Given the description of an element on the screen output the (x, y) to click on. 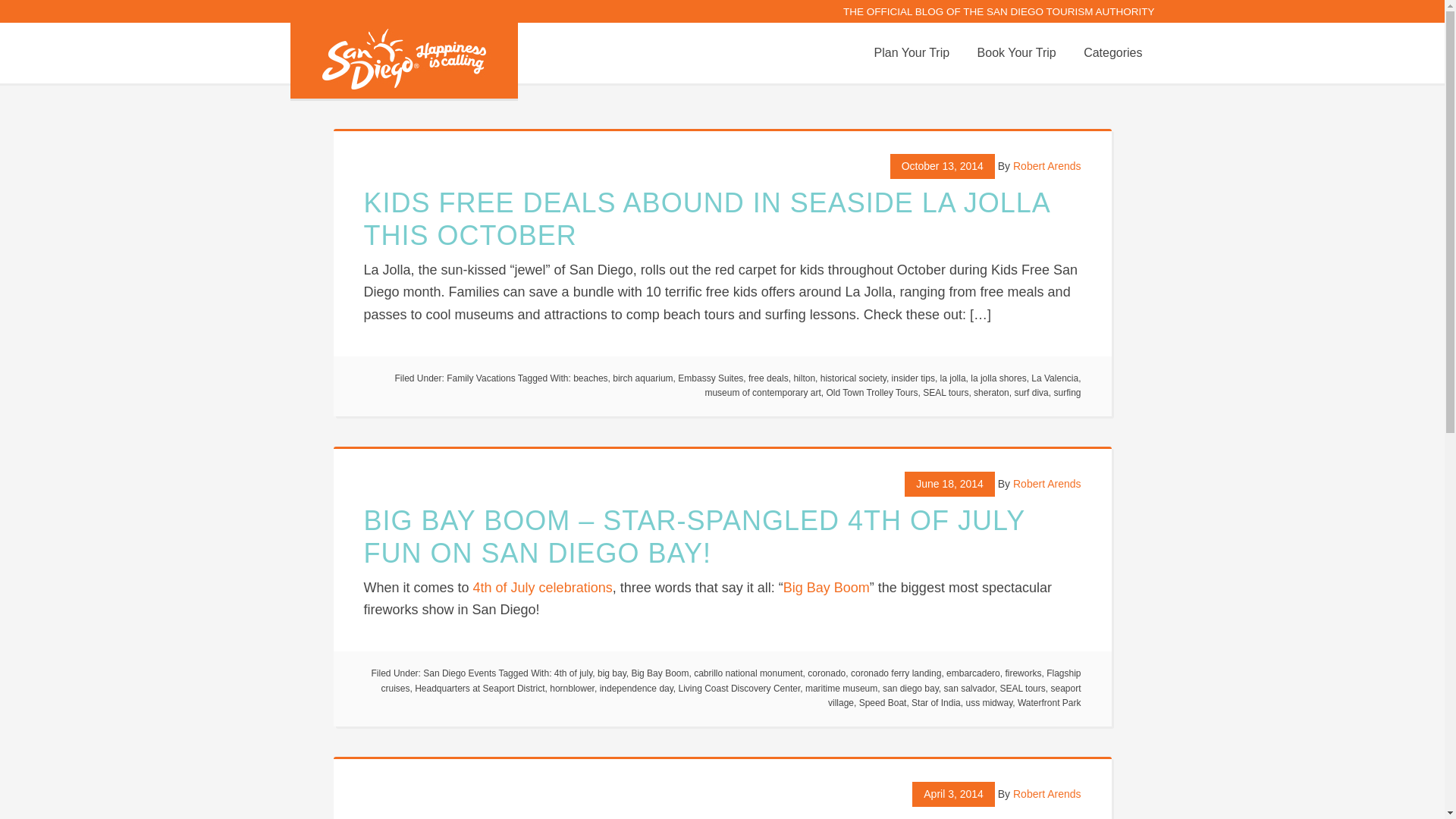
birch aquarium (642, 378)
Book Your Trip (1016, 52)
SEAL tours (945, 392)
Big Bay Boom (826, 587)
free deals (768, 378)
la jolla (953, 378)
4th of july (573, 673)
museum of contemporary art (762, 392)
Embassy Suites (710, 378)
big bay (611, 673)
Plan Your Trip (911, 52)
Family Vacations (480, 378)
4th of July Fireworks and Celebrations (542, 587)
hilton (804, 378)
historical society (853, 378)
